Given the description of an element on the screen output the (x, y) to click on. 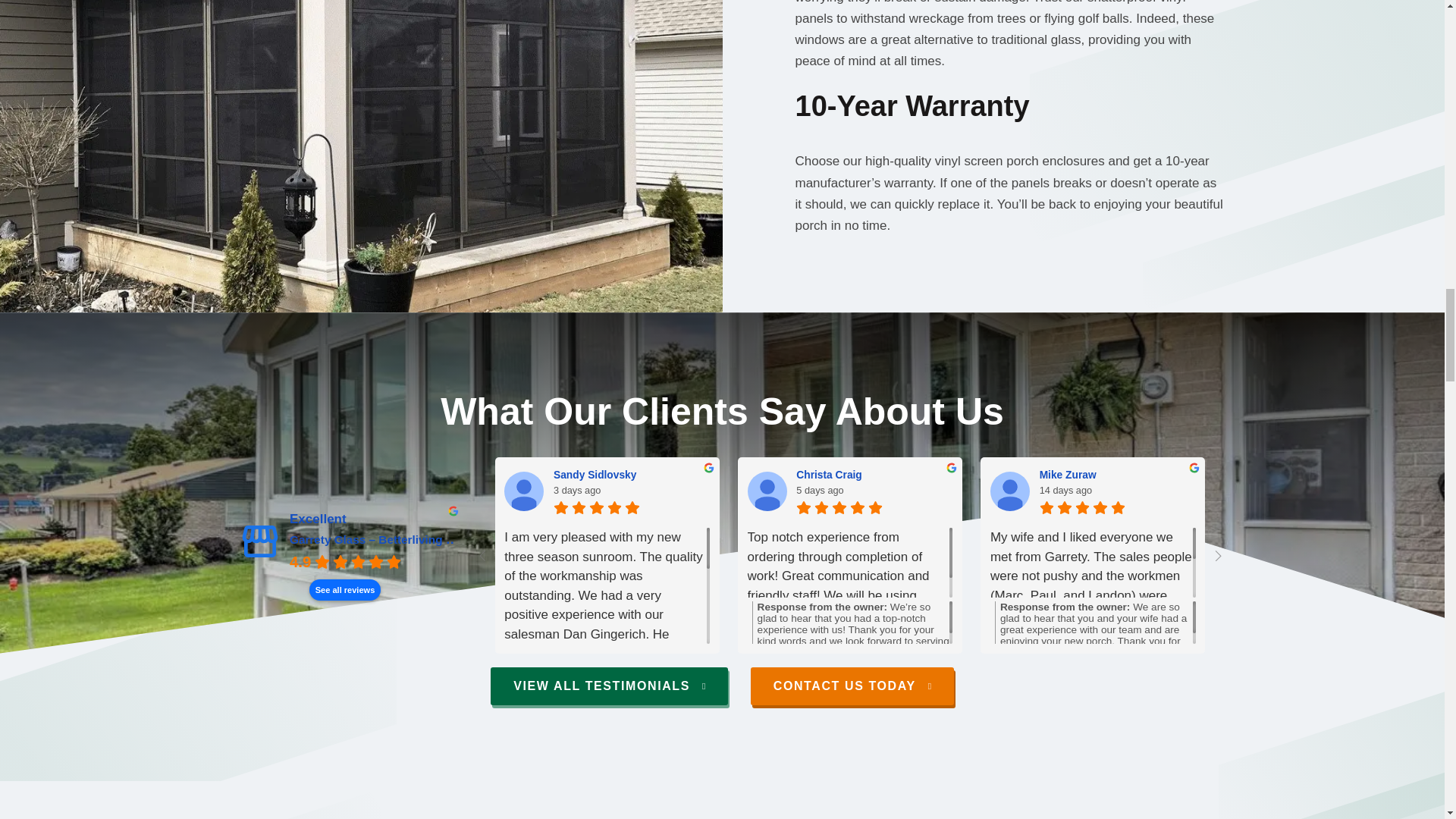
Mike Zuraw (1117, 473)
Sandy Sidlovsky (523, 491)
Mike Zuraw (1009, 491)
Diana Roberts (1252, 491)
Garrety Glass - Betterliving Sunrooms (259, 541)
Christa Craig (767, 491)
Diana Roberts (1360, 473)
Christa Craig (874, 473)
Sandy Sidlovsky (631, 473)
